Given the description of an element on the screen output the (x, y) to click on. 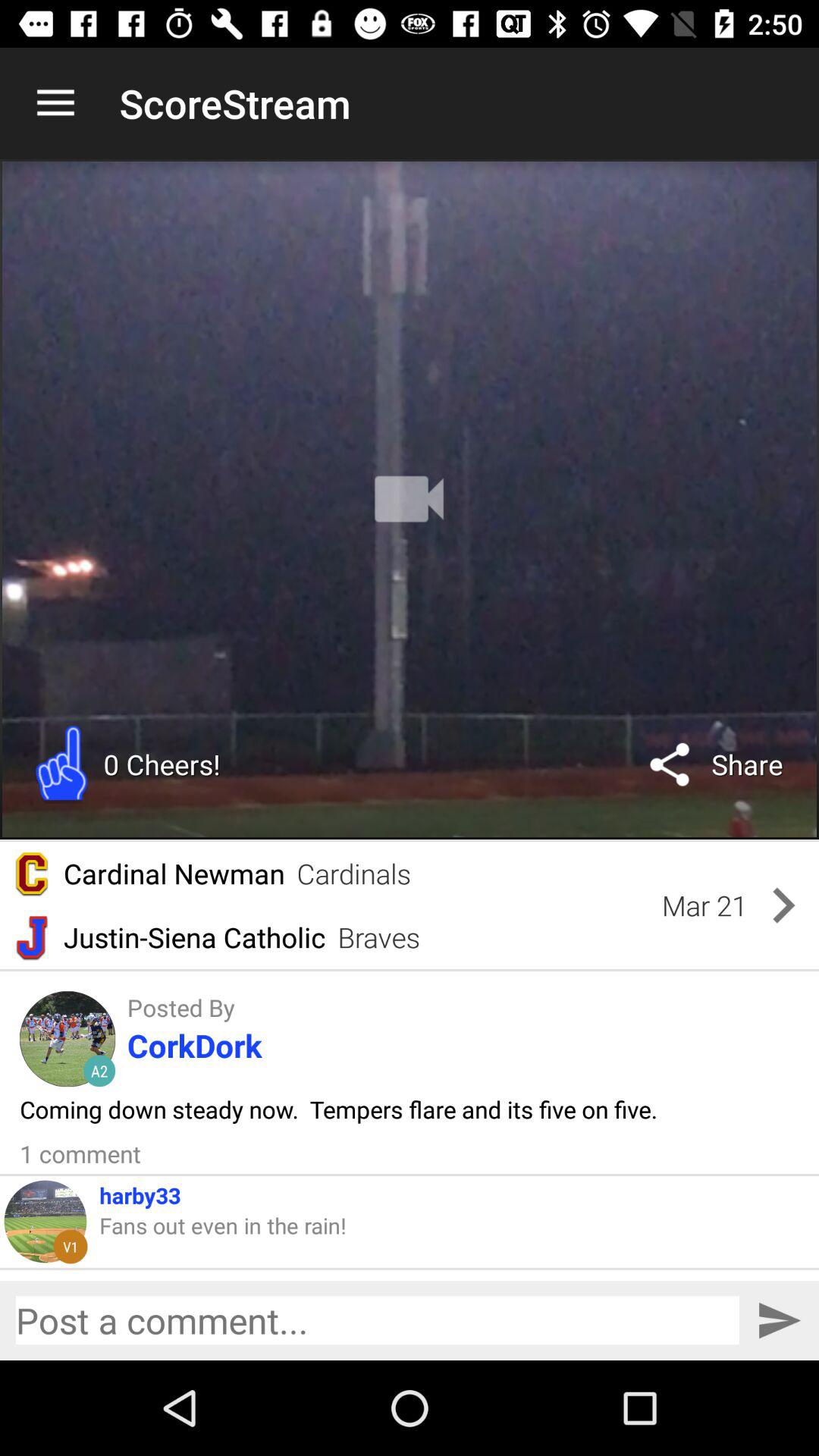
turn off icon to the left of scorestream item (55, 103)
